Given the description of an element on the screen output the (x, y) to click on. 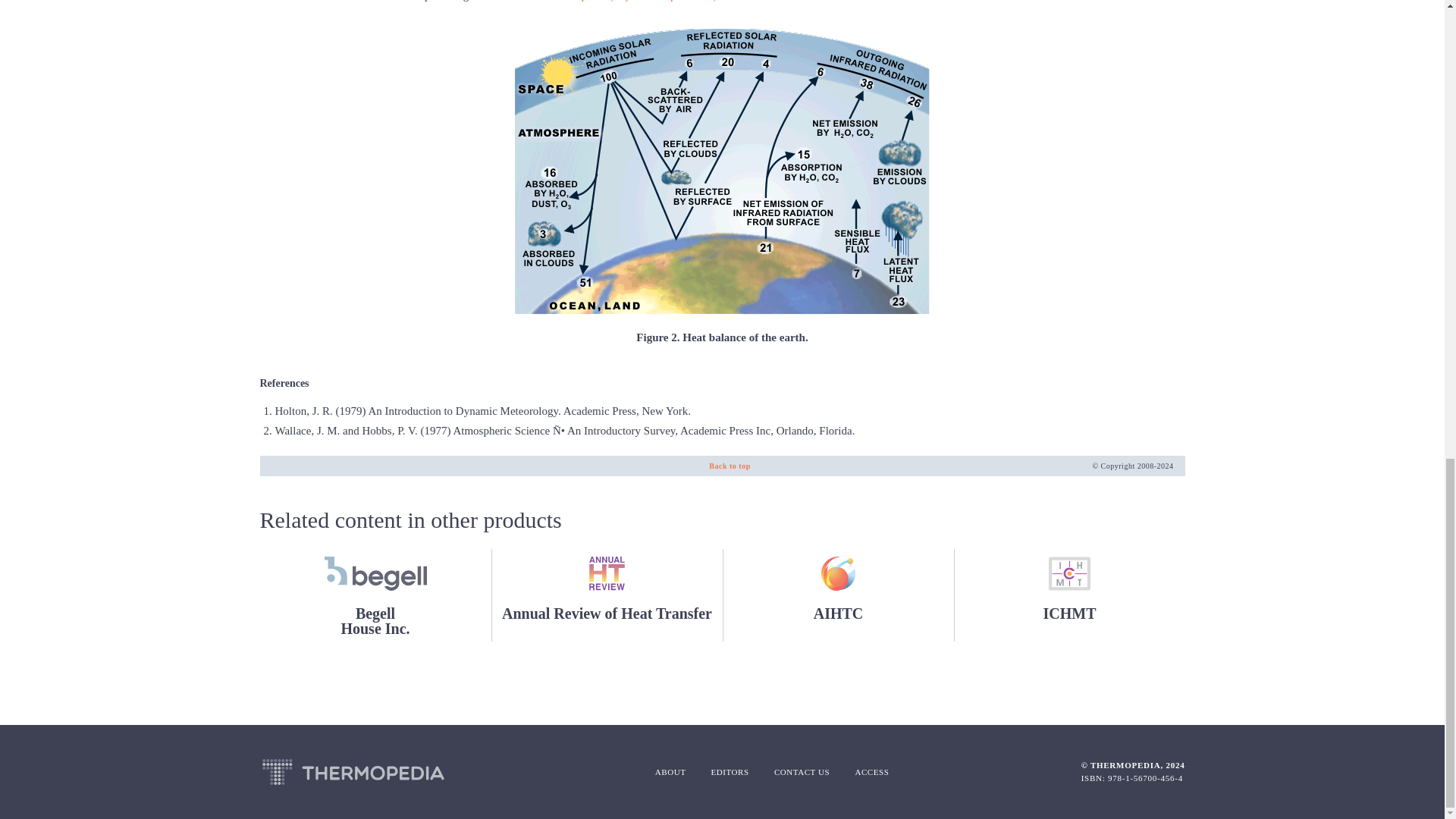
Annual Review of Heat Transfer (607, 594)
Back to top (729, 465)
Back to top (729, 465)
AIHTC (374, 594)
